Given the description of an element on the screen output the (x, y) to click on. 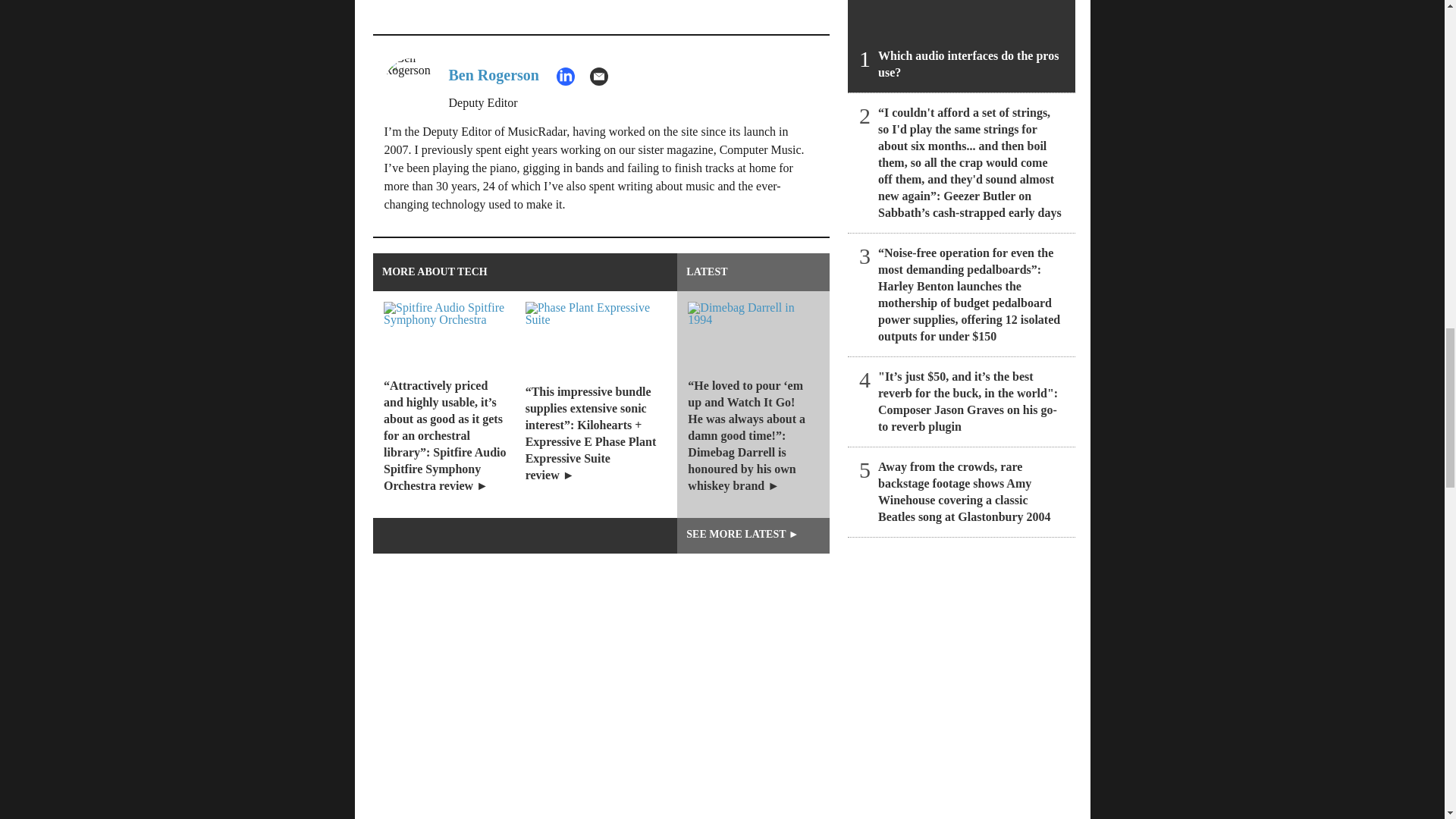
Which audio interfaces do the pros use? (961, 46)
